Given the description of an element on the screen output the (x, y) to click on. 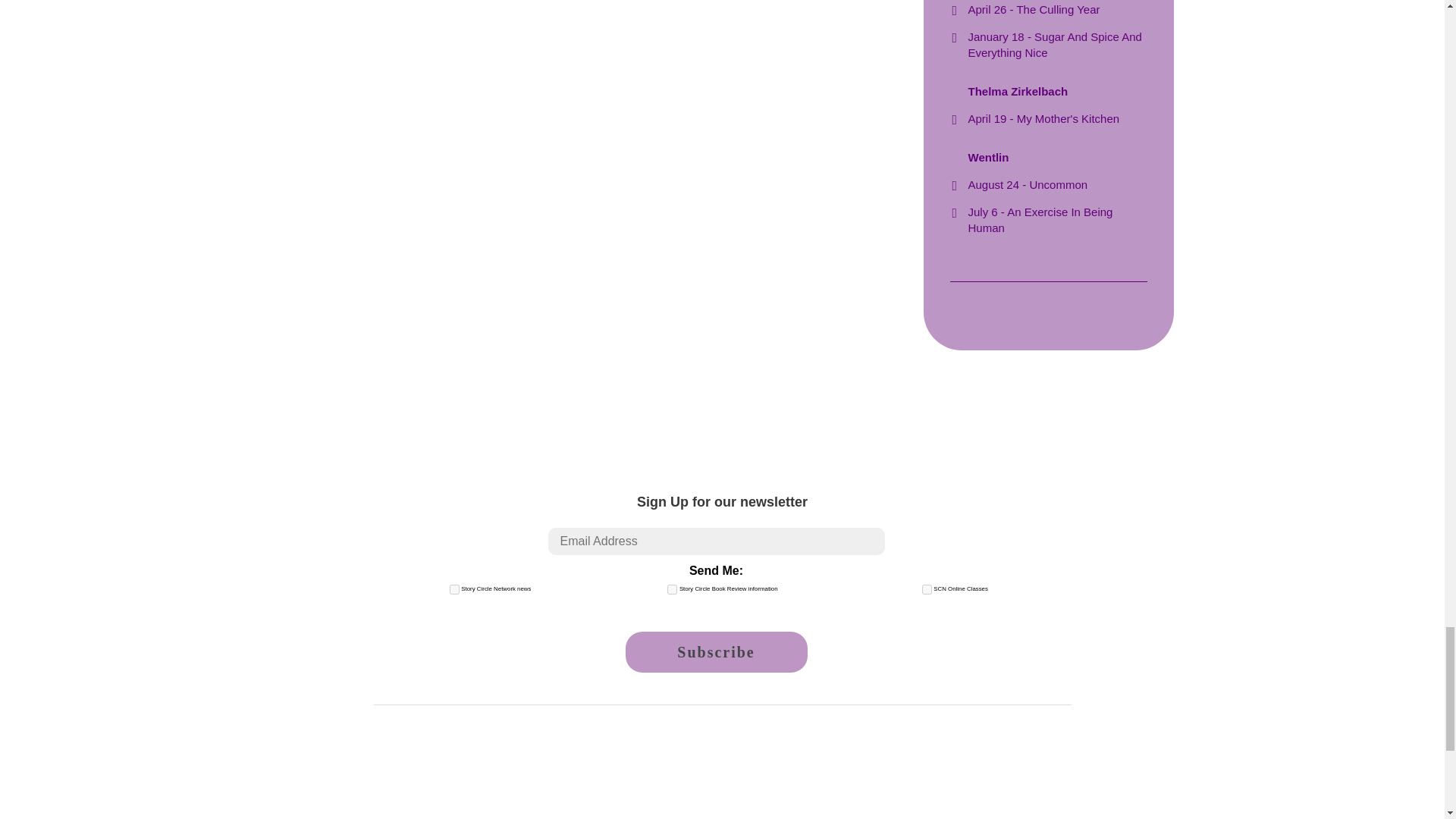
Subscribe (715, 651)
Story Circle Network news (454, 589)
SCN Online Classes (926, 589)
Story Circle Book Review information (671, 589)
